Given the description of an element on the screen output the (x, y) to click on. 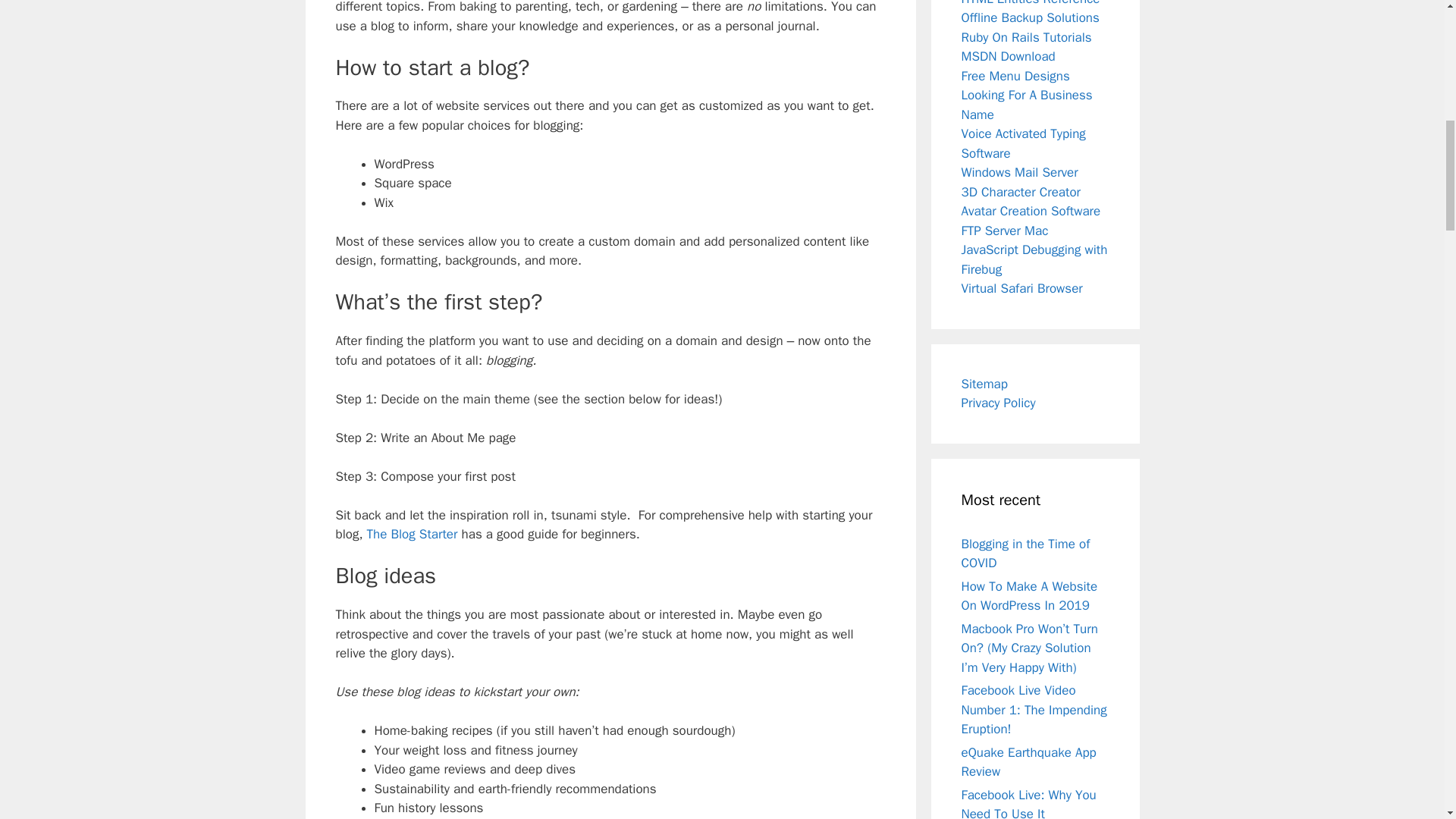
Looking For A Business Name (1026, 104)
3D Character Creator (1020, 191)
Facebook Live Video Number 1: The Impending Eruption! (1033, 709)
Free Menu Designs (1015, 75)
Voice Activated Typing Software (1023, 143)
JavaScript Debugging with Firebug (1034, 259)
Avatar Creation Software (1030, 211)
Privacy Policy (997, 402)
Offline Backup Solutions (1029, 17)
eQuake Earthquake App Review (1028, 762)
